Given the description of an element on the screen output the (x, y) to click on. 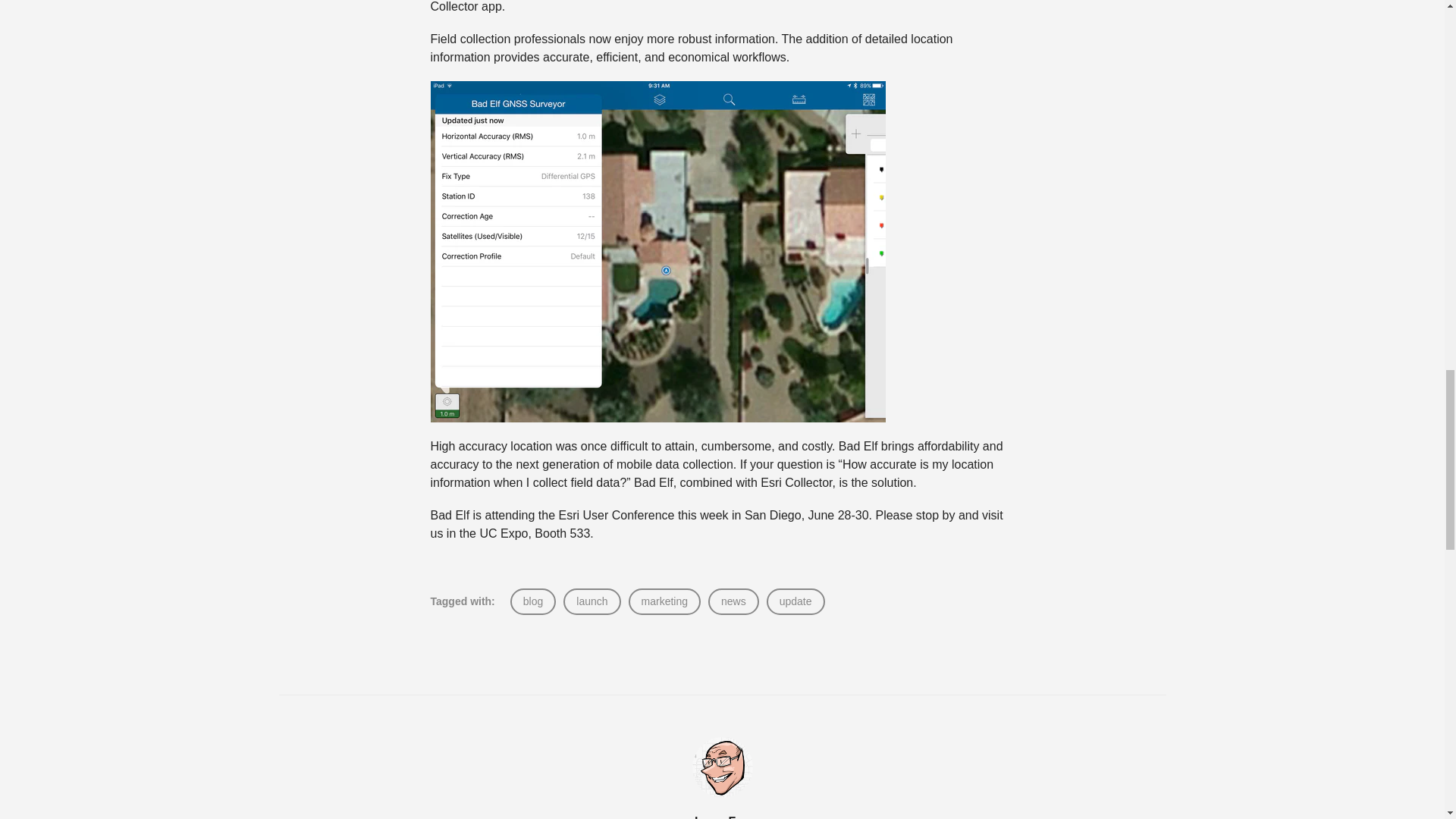
Show articles tagged blog (532, 601)
Show articles tagged launch (591, 601)
Show articles tagged update (795, 601)
Show articles tagged news (732, 601)
Show articles tagged marketing (664, 601)
